Given the description of an element on the screen output the (x, y) to click on. 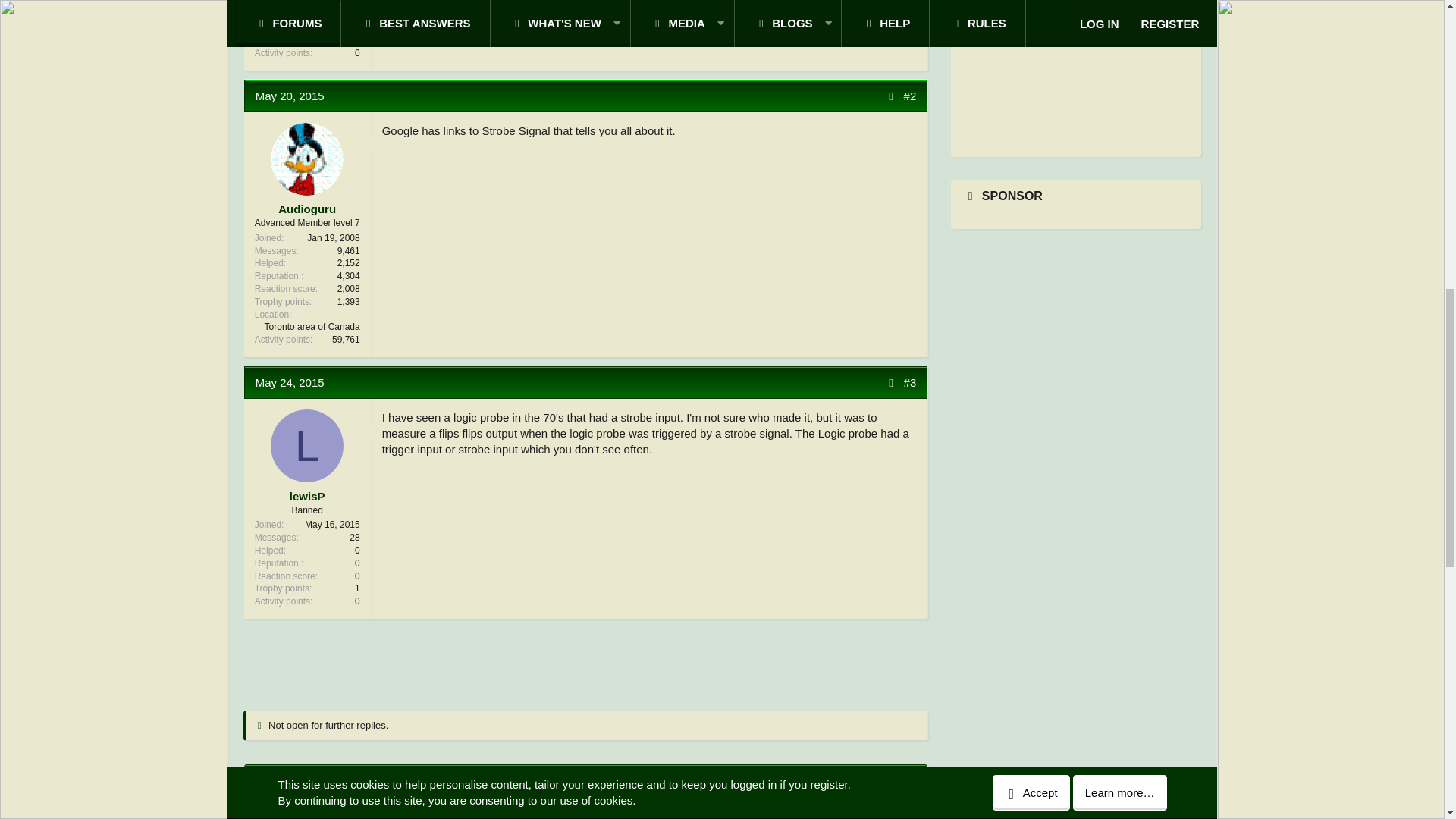
Activity points (283, 52)
3rd party ad content (584, 661)
Activity points (283, 601)
May 24, 2015 at 3:12 AM (290, 382)
Activity points (283, 339)
May 20, 2015 at 2:58 AM (290, 95)
